Given the description of an element on the screen output the (x, y) to click on. 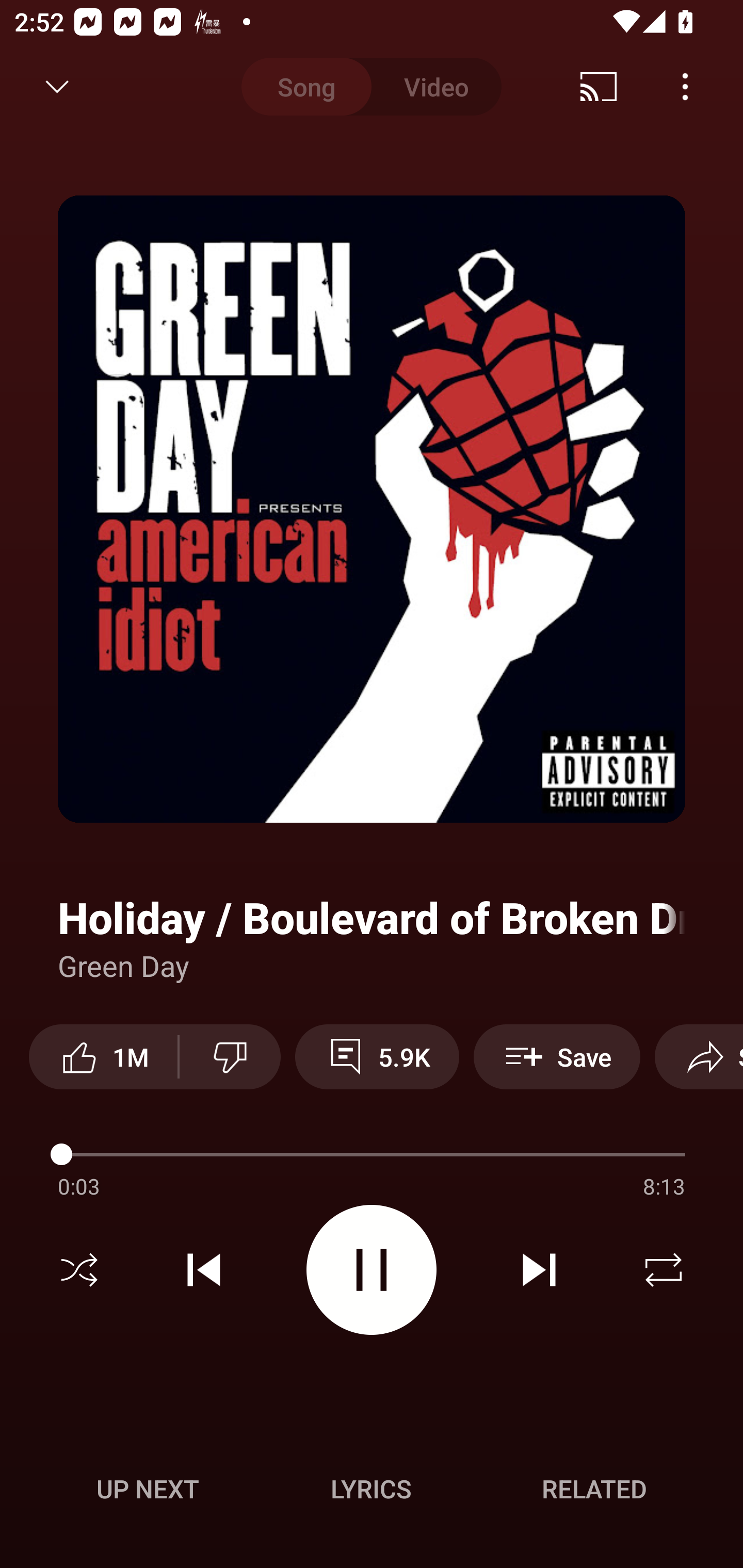
Minimize (57, 86)
Share (605, 86)
Search (692, 86)
Dislike (229, 1056)
5.9K View 5,977 comments (376, 1056)
Save Save to playlist (557, 1056)
Share (698, 1056)
Action menu (371, 1157)
Pause video (371, 1269)
Shuffle off (79, 1269)
Previous track (203, 1269)
Next track (538, 1269)
Repeat off (663, 1269)
Up next UP NEXT Lyrics LYRICS Related RELATED (371, 1491)
Lyrics LYRICS (370, 1488)
Related RELATED (594, 1488)
